Given the description of an element on the screen output the (x, y) to click on. 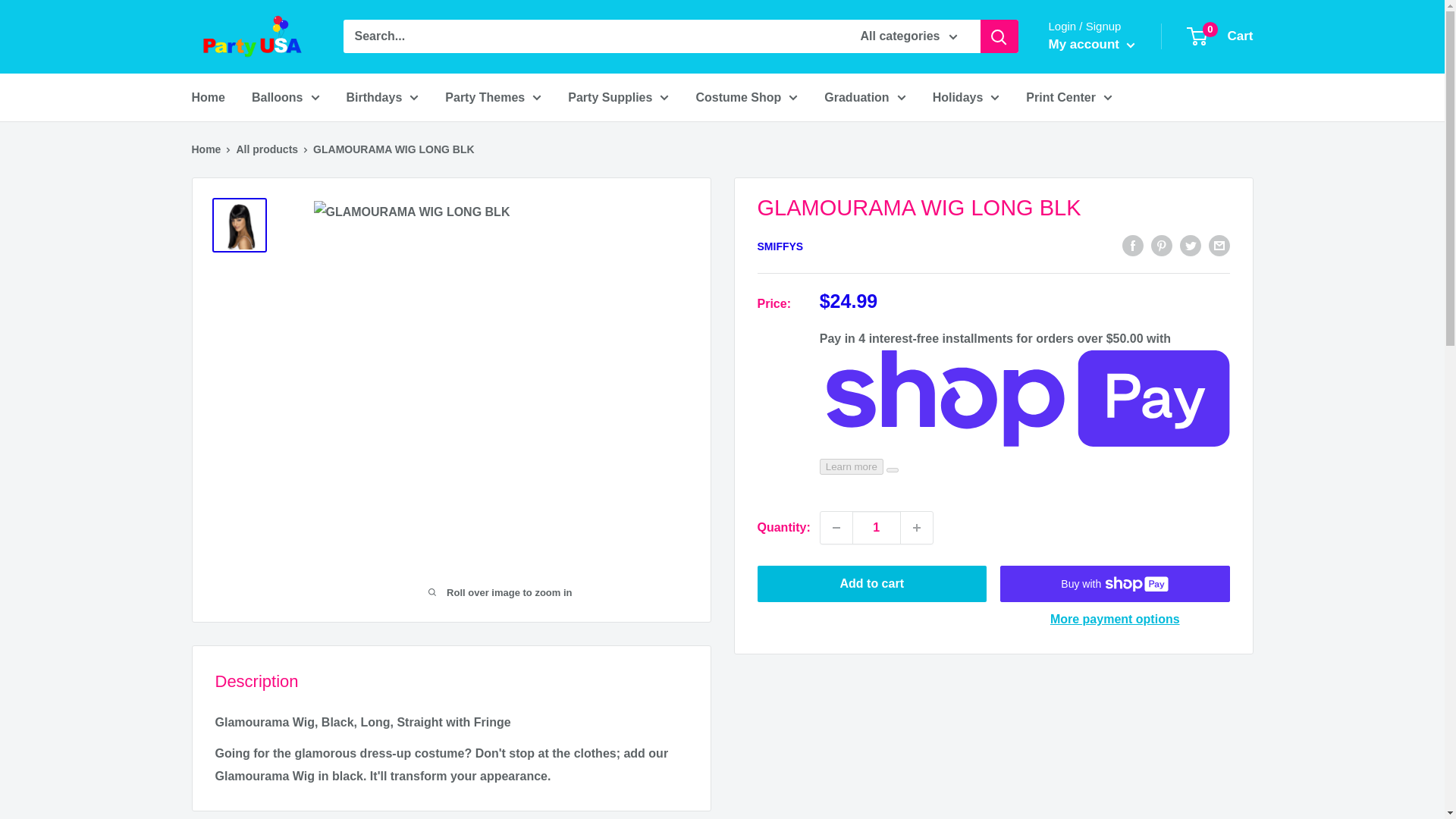
Decrease quantity by 1 (836, 527)
1 (876, 527)
Increase quantity by 1 (917, 527)
